Given the description of an element on the screen output the (x, y) to click on. 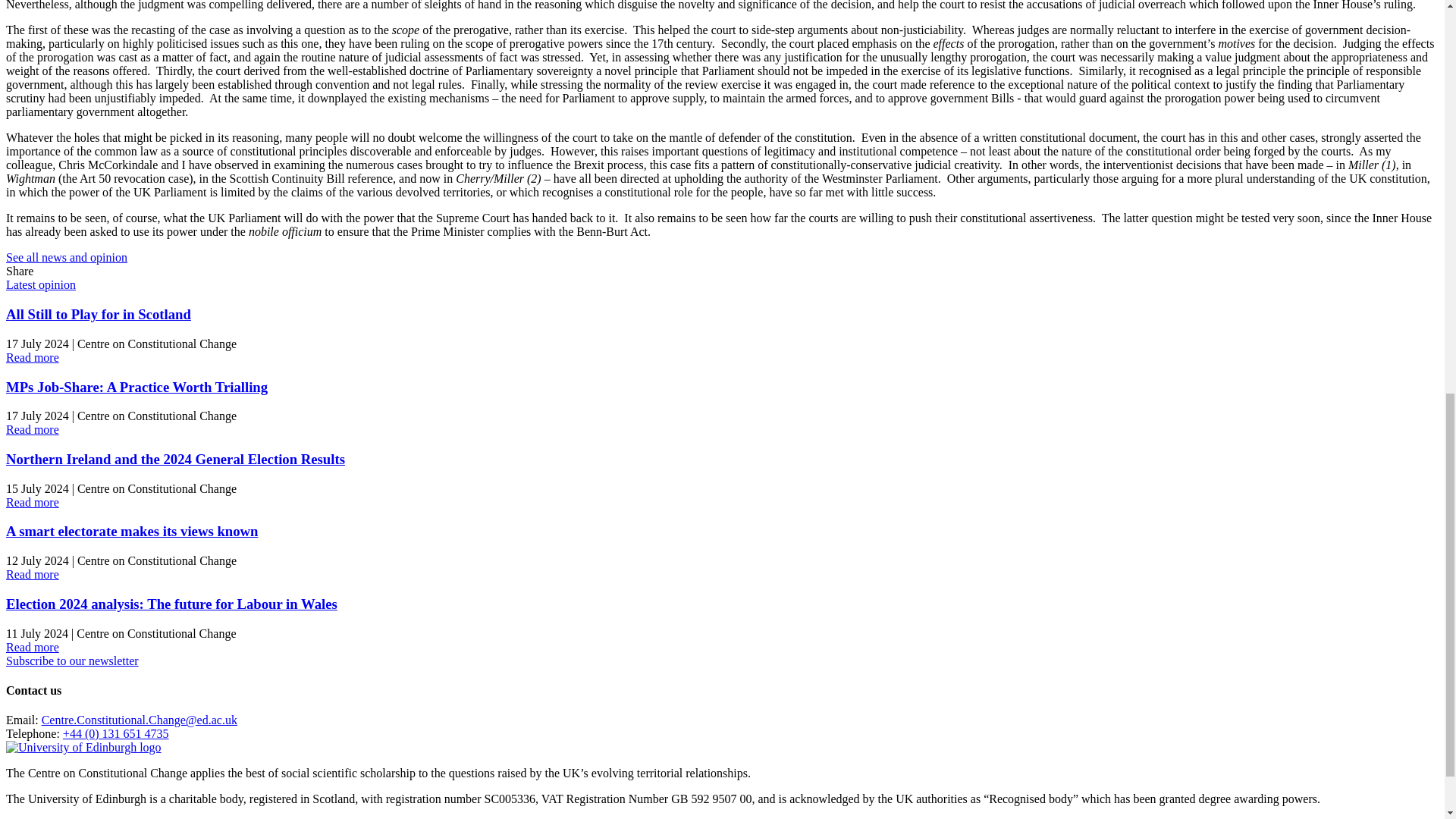
MPs Job-Share: A Practice Worth Trialling (136, 386)
Read more (32, 429)
Read more (32, 646)
Latest opinion (40, 284)
Election 2024 analysis: The future for Labour in Wales (171, 603)
See all news and opinion (66, 256)
Read more (32, 357)
A smart electorate makes its views known (131, 530)
Northern Ireland and the 2024 General Election Results (175, 458)
Read more (32, 502)
